Given the description of an element on the screen output the (x, y) to click on. 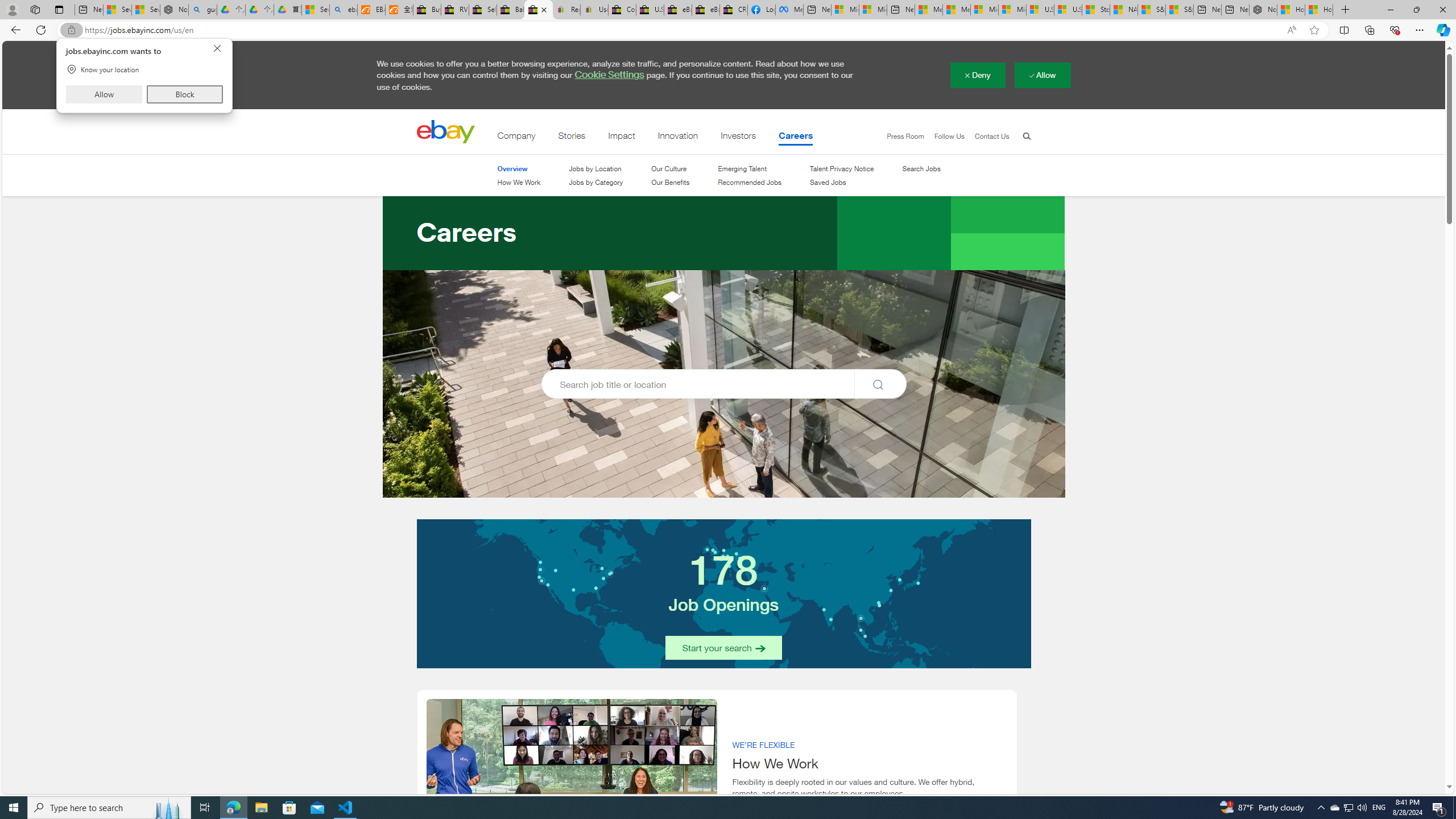
Contact Us (991, 135)
Recommended Jobs (749, 181)
Overview (518, 168)
eBay Jobs: Careers at eBay (538, 9)
Our Benefits (670, 181)
Visual Studio Code - 1 running window (345, 807)
Impact (621, 138)
Jobs by Category (596, 182)
Class: desktop (445, 132)
Type here to search (108, 807)
Overview (511, 168)
